Given the description of an element on the screen output the (x, y) to click on. 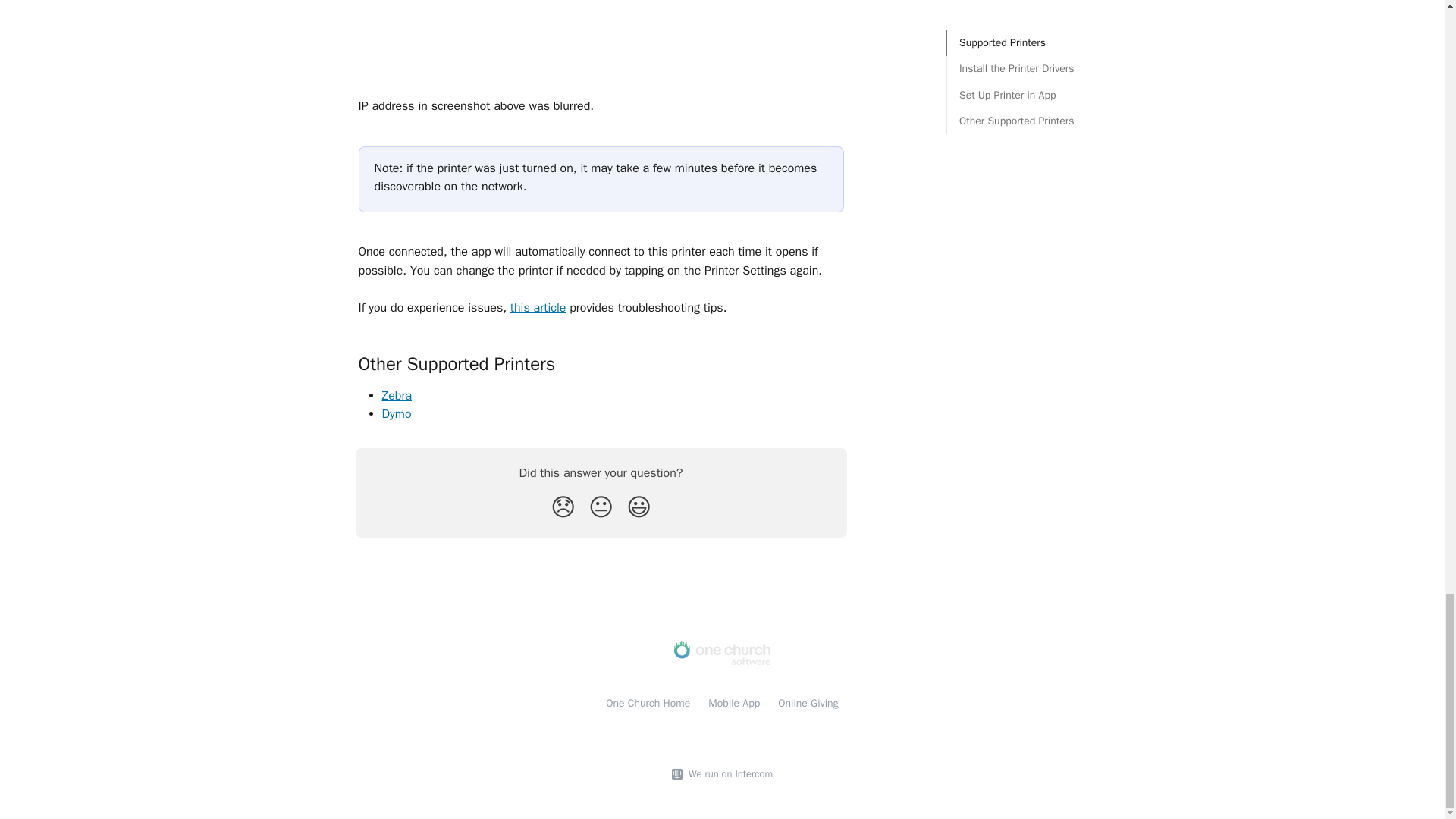
this article (538, 307)
One Church Home (647, 703)
Dymo (396, 413)
We run on Intercom (727, 774)
Online Giving (807, 703)
Zebra (396, 395)
Mobile App (733, 703)
